Given the description of an element on the screen output the (x, y) to click on. 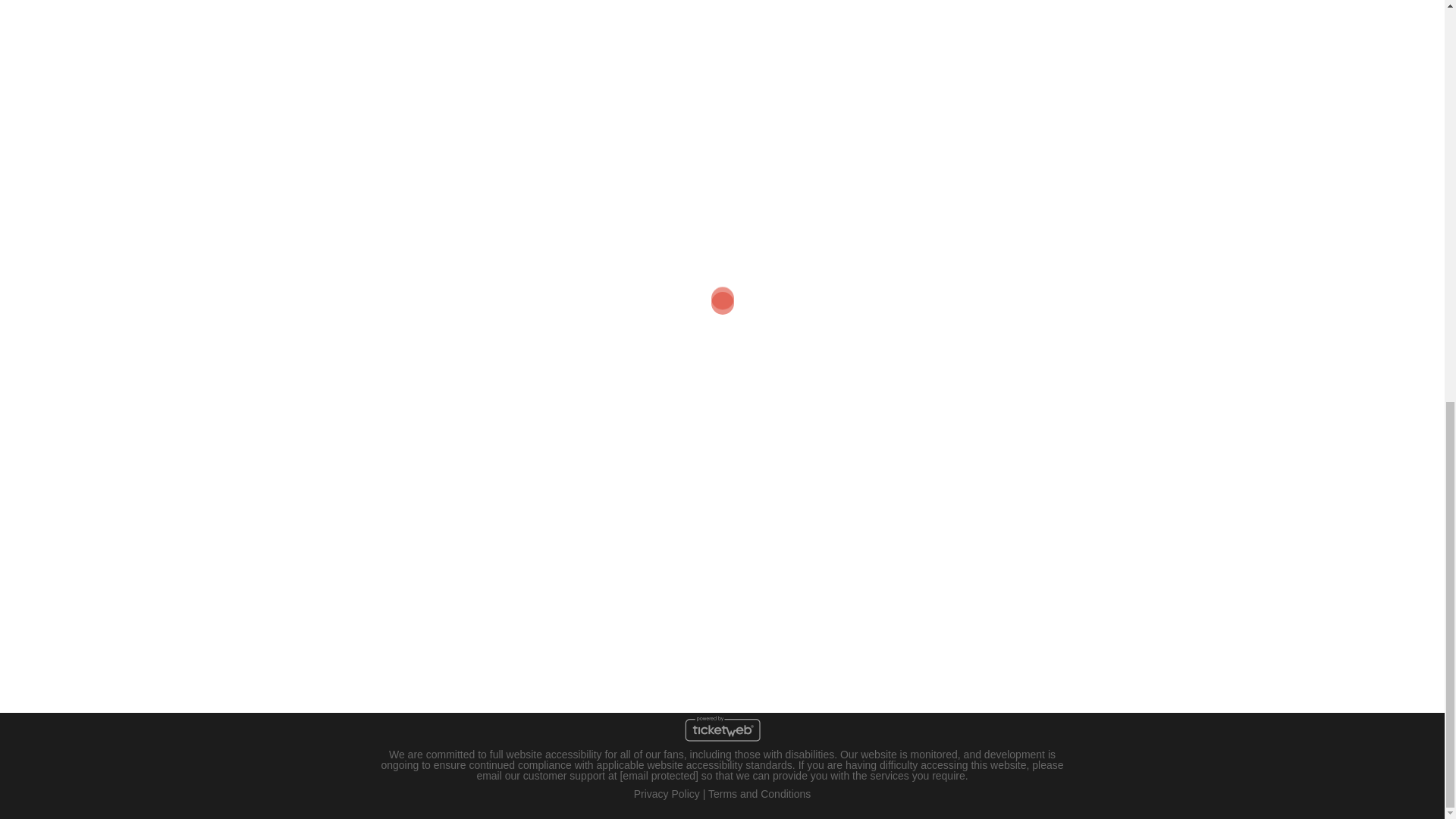
RESERVATIONS (721, 413)
Privacy Policy (666, 793)
25 AVENUE A NEW YORK, NY 10009 (418, 578)
Terms and Conditions (758, 793)
